Given the description of an element on the screen output the (x, y) to click on. 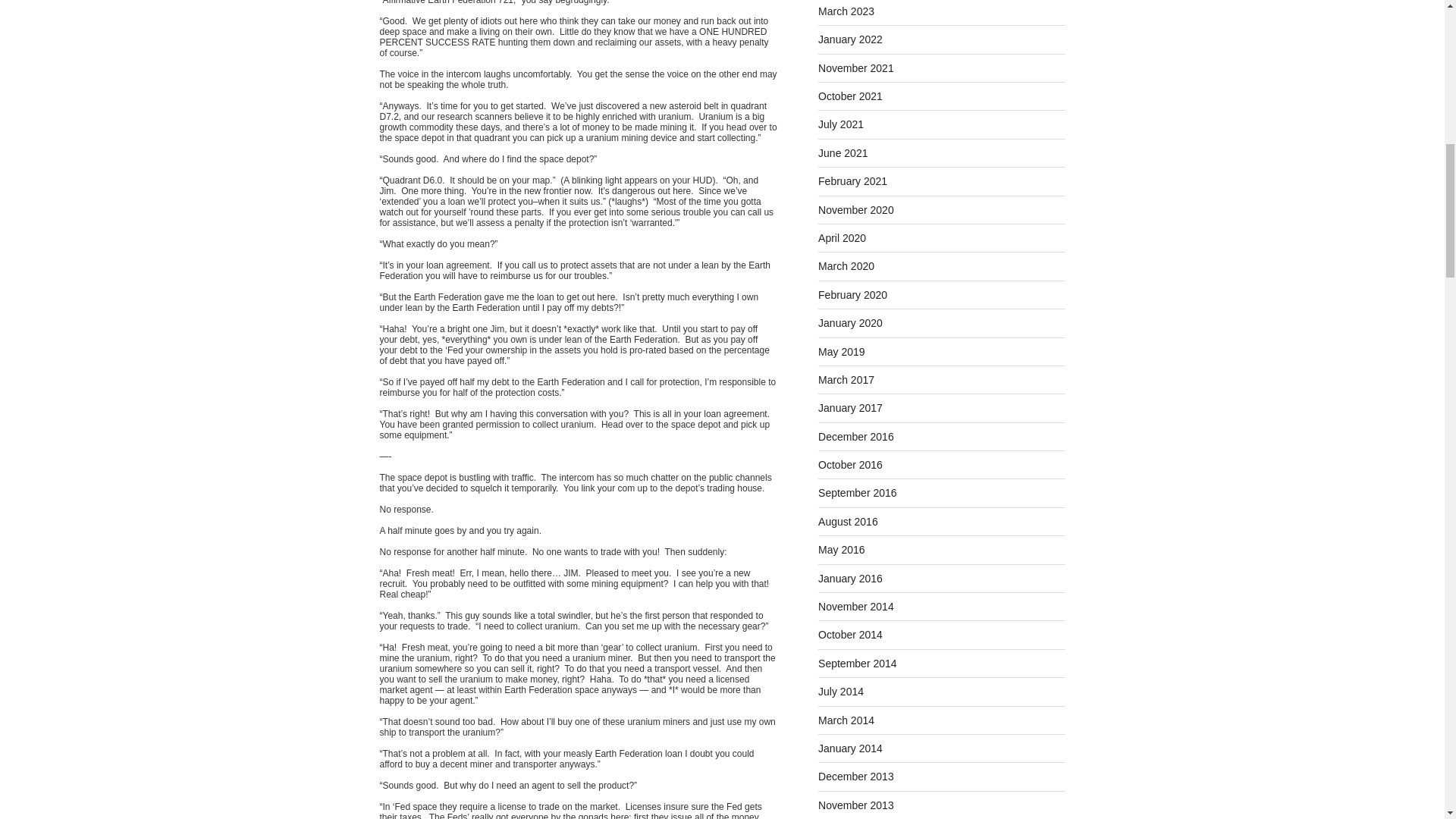
February 2021 (852, 181)
May 2019 (841, 351)
November 2020 (855, 209)
November 2021 (855, 68)
October 2021 (850, 96)
February 2020 (852, 295)
June 2021 (842, 152)
March 2020 (846, 265)
July 2021 (840, 123)
January 2020 (850, 322)
